Given the description of an element on the screen output the (x, y) to click on. 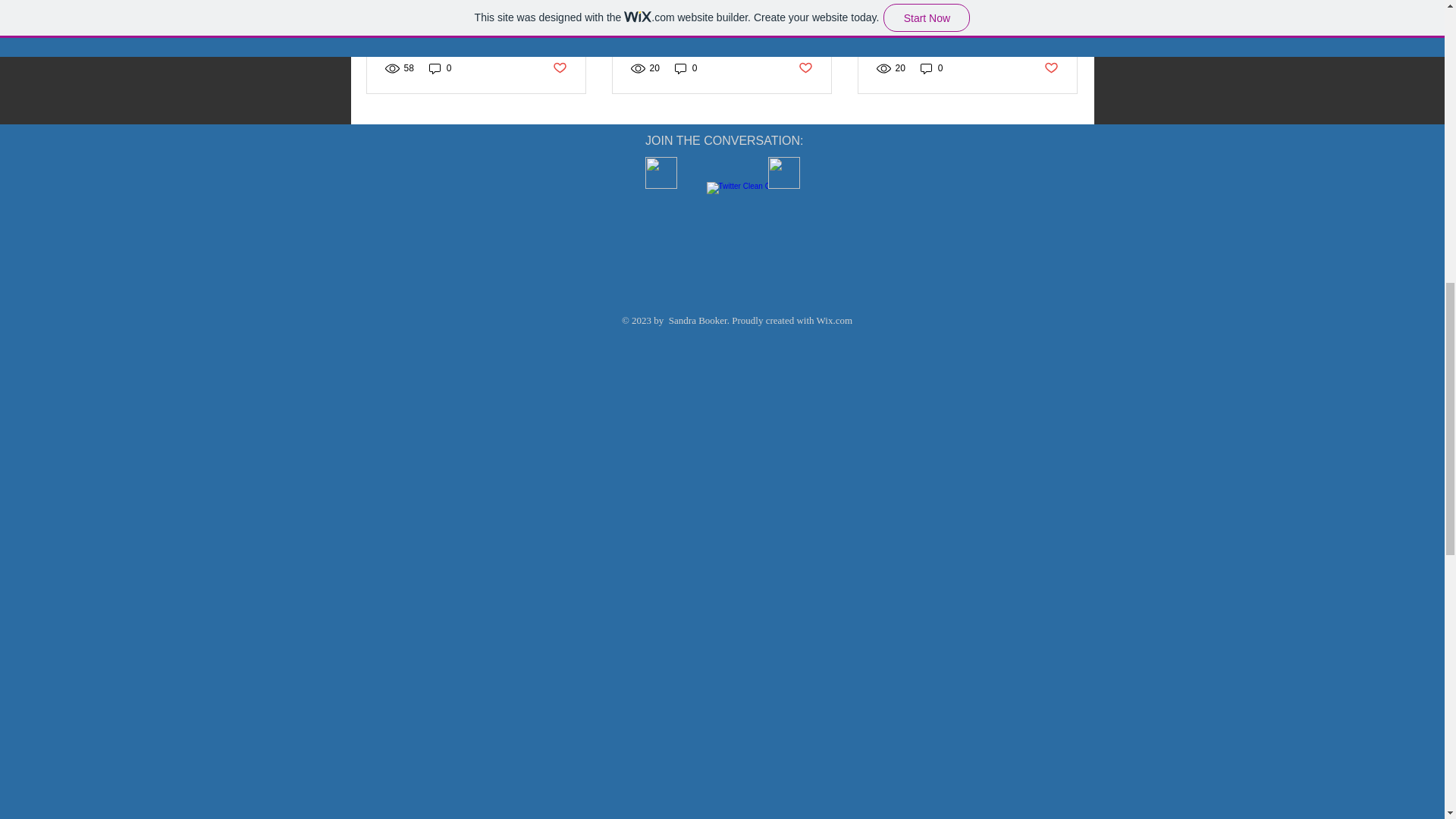
0 (440, 67)
Wix.com (834, 319)
0 (931, 67)
0 (685, 67)
Post not marked as liked (558, 68)
Post not marked as liked (1050, 68)
Post not marked as liked (804, 68)
